Given the description of an element on the screen output the (x, y) to click on. 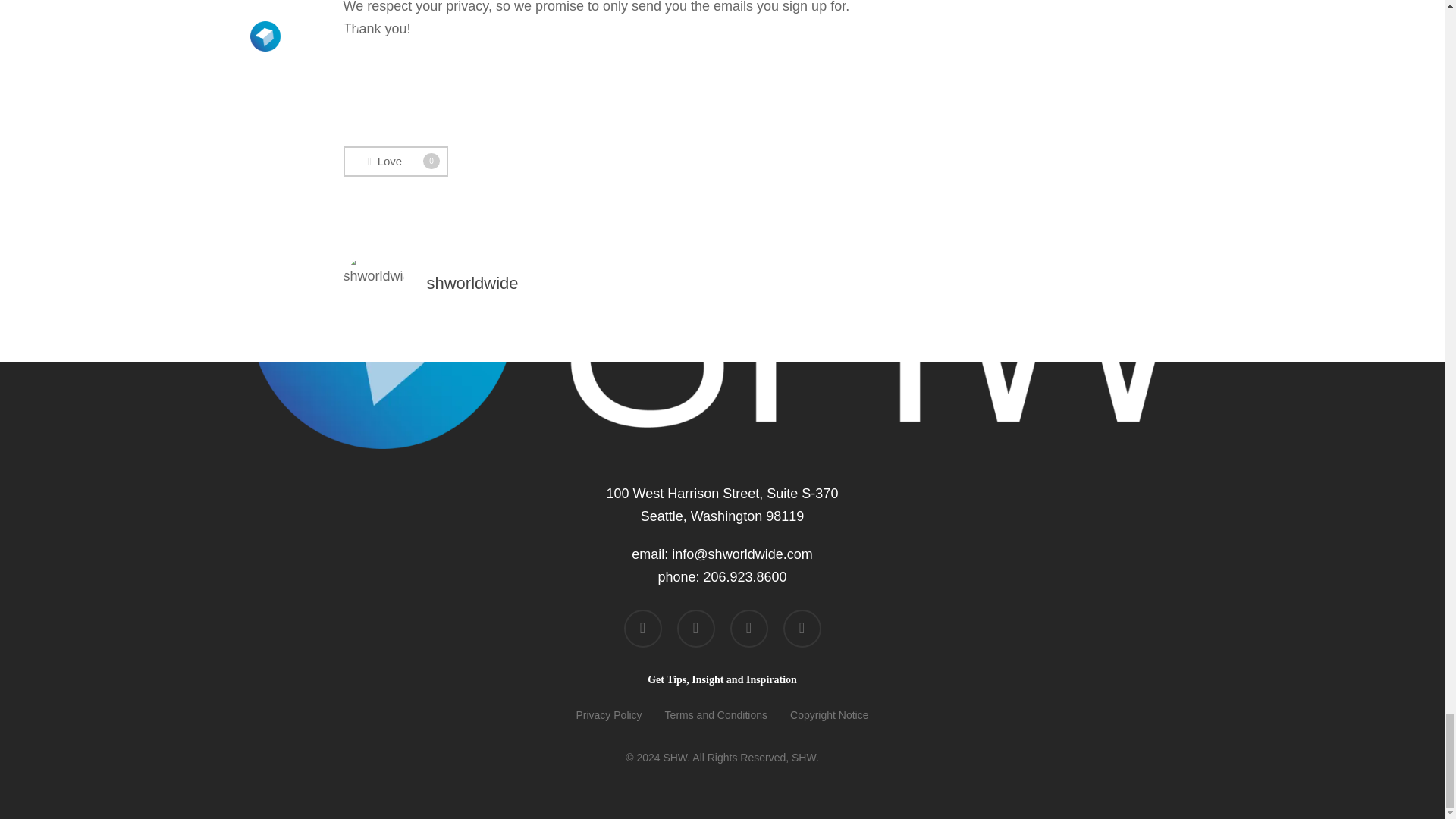
Love this (394, 161)
shworldwide (394, 161)
